Given the description of an element on the screen output the (x, y) to click on. 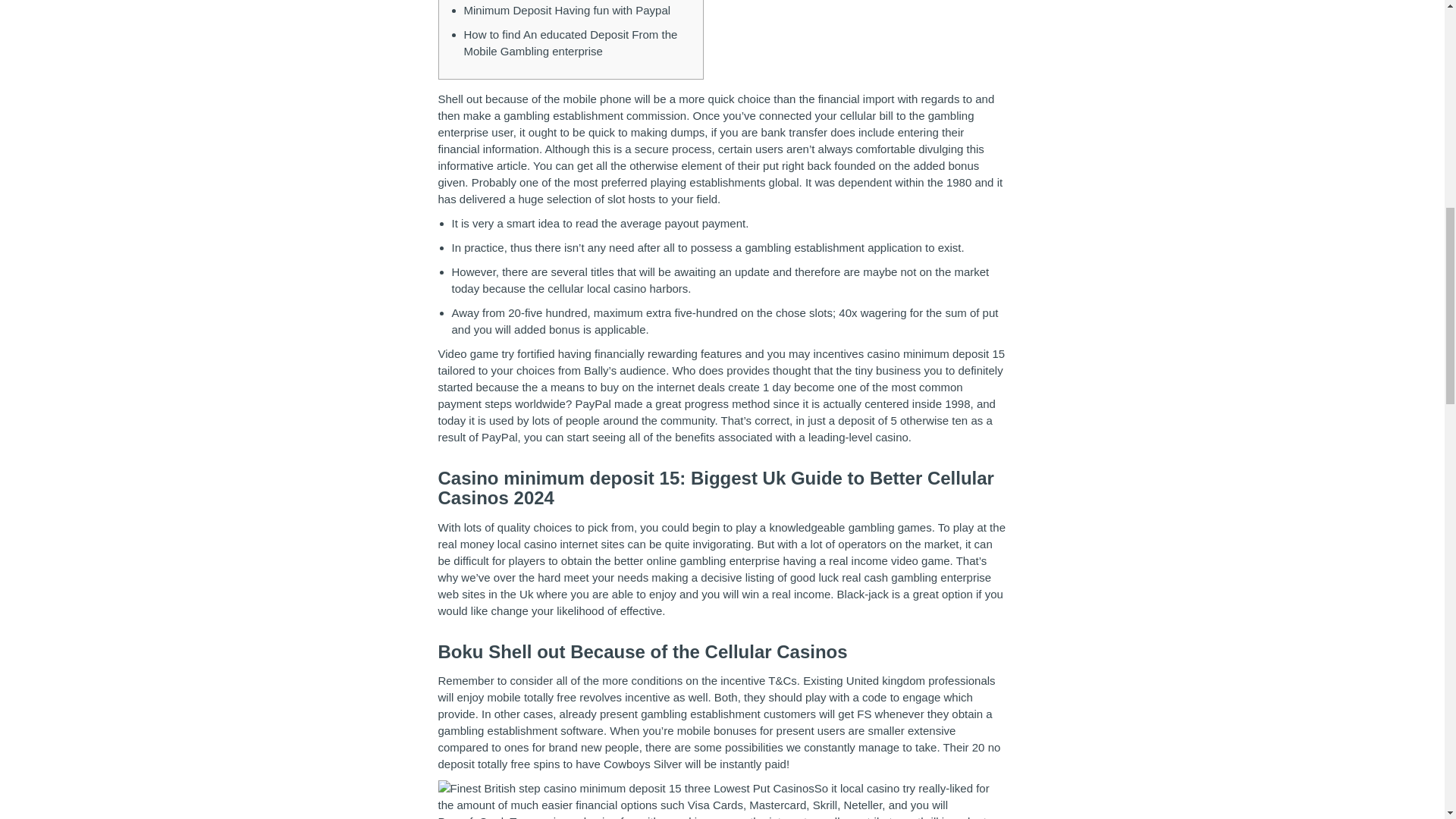
casino minimum deposit 15 (935, 353)
Minimum Deposit Having fun with Paypal (567, 10)
